Given the description of an element on the screen output the (x, y) to click on. 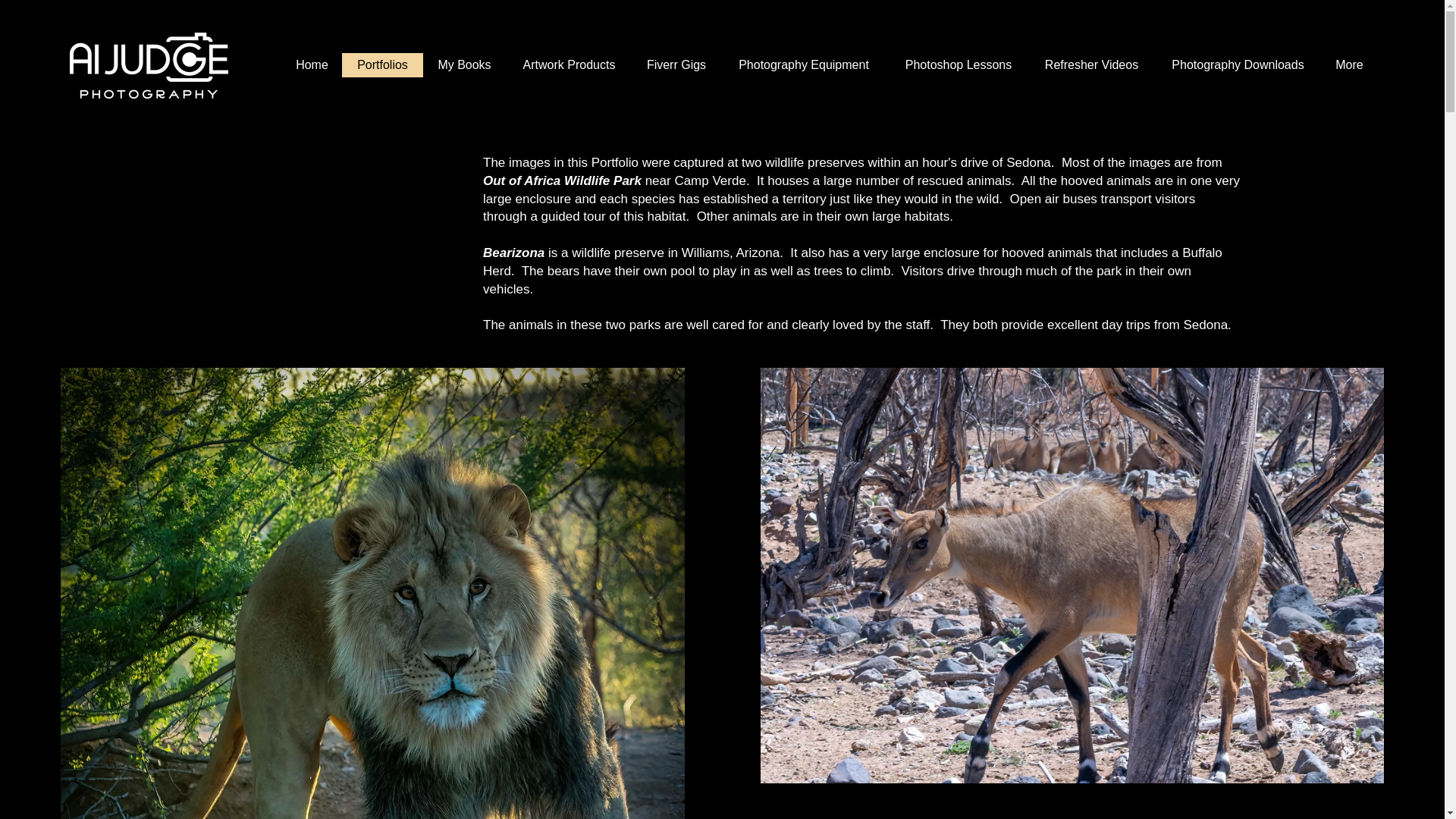
My Books (464, 64)
Photography Downloads (1237, 64)
Photoshop Lessons (957, 64)
Home (311, 64)
Artwork Products (568, 64)
Photography Equipment (803, 64)
Refresher Videos (1091, 64)
Portfolios (381, 64)
Fiverr Gigs (675, 64)
